Given the description of an element on the screen output the (x, y) to click on. 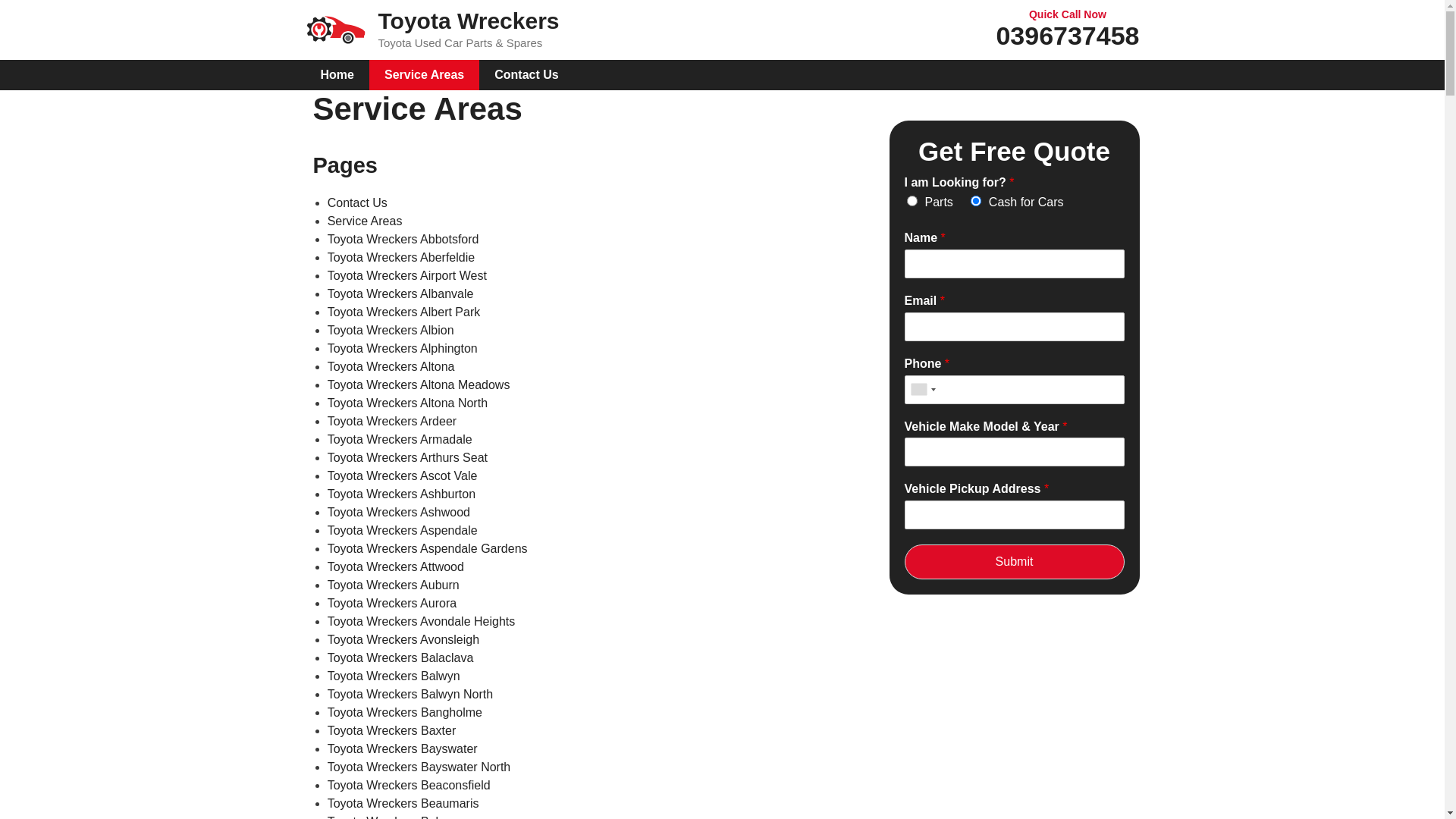
Toyota Wreckers Altona Meadows Element type: text (418, 384)
Toyota Wreckers Aspendale Element type: text (402, 530)
Toyota Wreckers Ashwood Element type: text (398, 511)
Toyota Wreckers Balwyn Element type: text (393, 675)
Toyota Wreckers Arthurs Seat Element type: text (407, 457)
Toyota Wreckers Albion Element type: text (390, 329)
Toyota Wreckers Ardeer Element type: text (391, 420)
Toyota Wreckers Beaconsfield Element type: text (408, 784)
Toyota Wreckers Ashburton Element type: text (401, 493)
Toyota Wreckers Alphington Element type: text (402, 348)
Service Areas Element type: text (364, 220)
Toyota Wreckers Element type: hover (334, 27)
Toyota Wreckers Bangholme Element type: text (404, 712)
Toyota Wreckers Abbotsford Element type: text (403, 238)
Toyota Wreckers Altona North Element type: text (407, 402)
Toyota Wreckers Avondale Heights Element type: text (421, 621)
Toyota Wreckers Albert Park Element type: text (403, 311)
Toyota Wreckers Armadale Element type: text (399, 439)
Toyota Wreckers Element type: text (467, 20)
Toyota Wreckers Aberfeldie Element type: text (400, 257)
Toyota Wreckers Baxter Element type: text (391, 730)
Toyota Wreckers Aurora Element type: text (391, 602)
Toyota Wreckers Beaumaris Element type: text (403, 803)
0396737458 Element type: text (1067, 35)
Toyota Wreckers Balaclava Element type: text (400, 657)
Toyota Wreckers Balwyn North Element type: text (409, 693)
Toyota Wreckers Bayswater Element type: text (402, 748)
Service Areas Element type: text (424, 74)
Home Element type: text (336, 74)
Toyota Wreckers Airport West Element type: text (406, 275)
Contact Us Element type: text (357, 202)
Toyota Wreckers Altona Element type: text (391, 366)
Toyota Wreckers Element type: hover (334, 29)
Toyota Wreckers Ascot Vale Element type: text (402, 475)
Toyota Wreckers Albanvale Element type: text (400, 293)
Toyota Wreckers Auburn Element type: text (393, 584)
Toyota Wreckers Aspendale Gardens Element type: text (427, 548)
Toyota Wreckers Attwood Element type: text (395, 566)
Submit Element type: text (1013, 561)
Contact Us Element type: text (526, 74)
Toyota Wreckers Avonsleigh Element type: text (403, 639)
Toyota Wreckers Bayswater North Element type: text (419, 766)
